Given the description of an element on the screen output the (x, y) to click on. 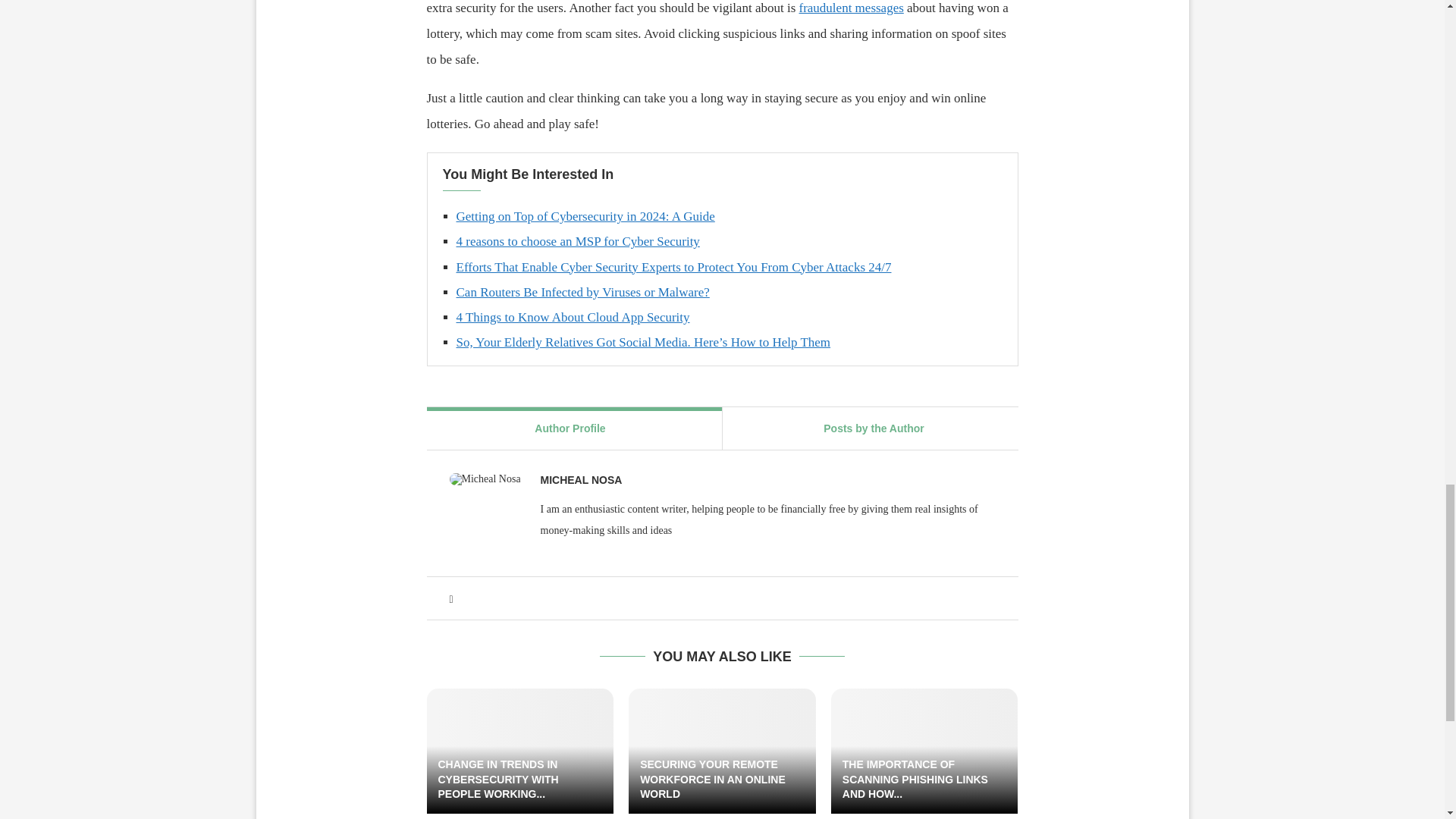
Getting on Top of Cybersecurity in 2024: A Guide (585, 216)
Author Profile (569, 428)
Can Routers Be Infected by Viruses or Malware? (583, 292)
Posts by the Author (873, 428)
4 reasons to choose an MSP for Cyber Security (578, 241)
fraudulent messages (851, 7)
4 Things to Know About Cloud App Security (573, 317)
